Given the description of an element on the screen output the (x, y) to click on. 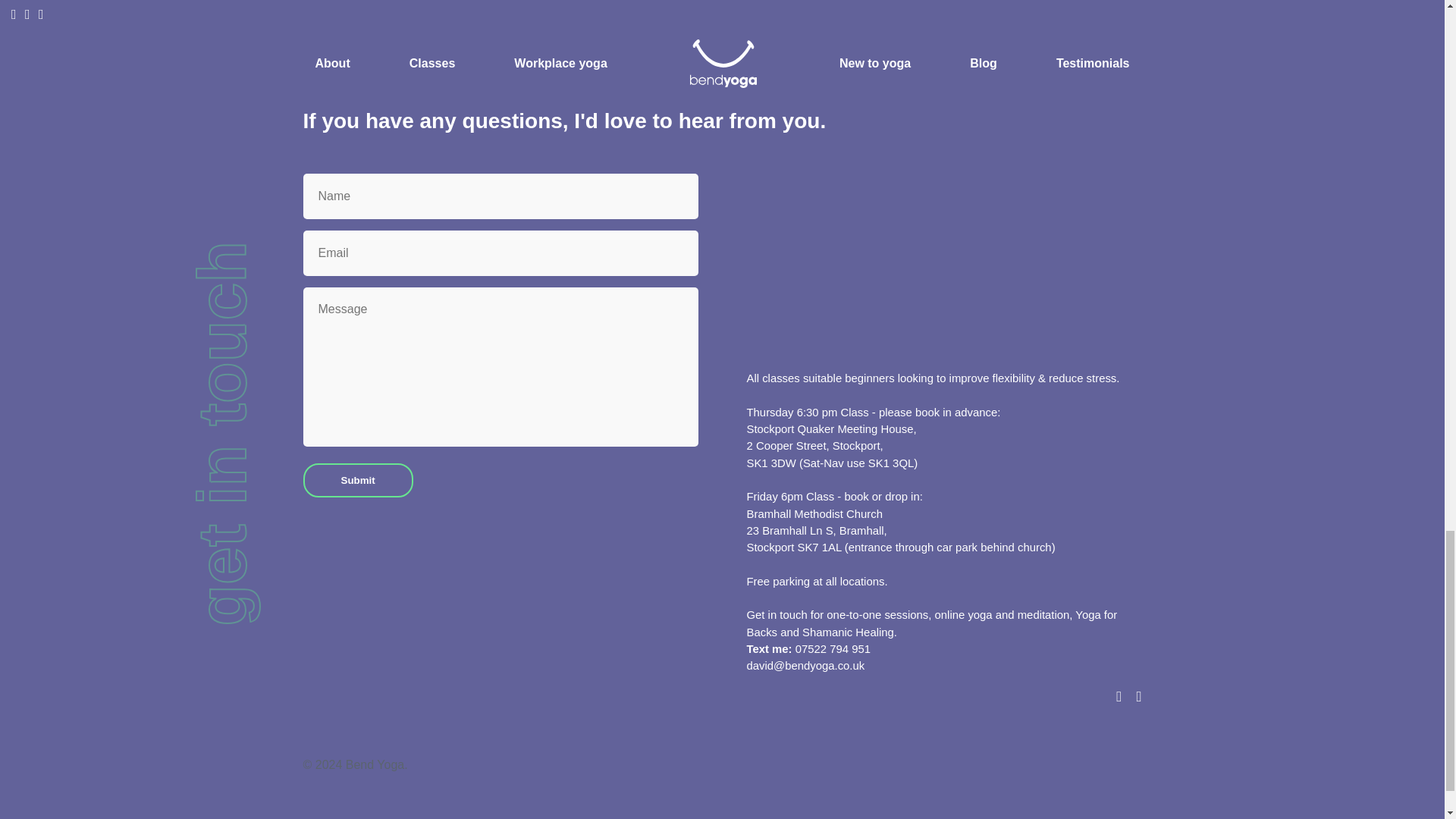
Text me: 07522 794 951 (807, 648)
Submit (357, 480)
Submit (357, 480)
